Given the description of an element on the screen output the (x, y) to click on. 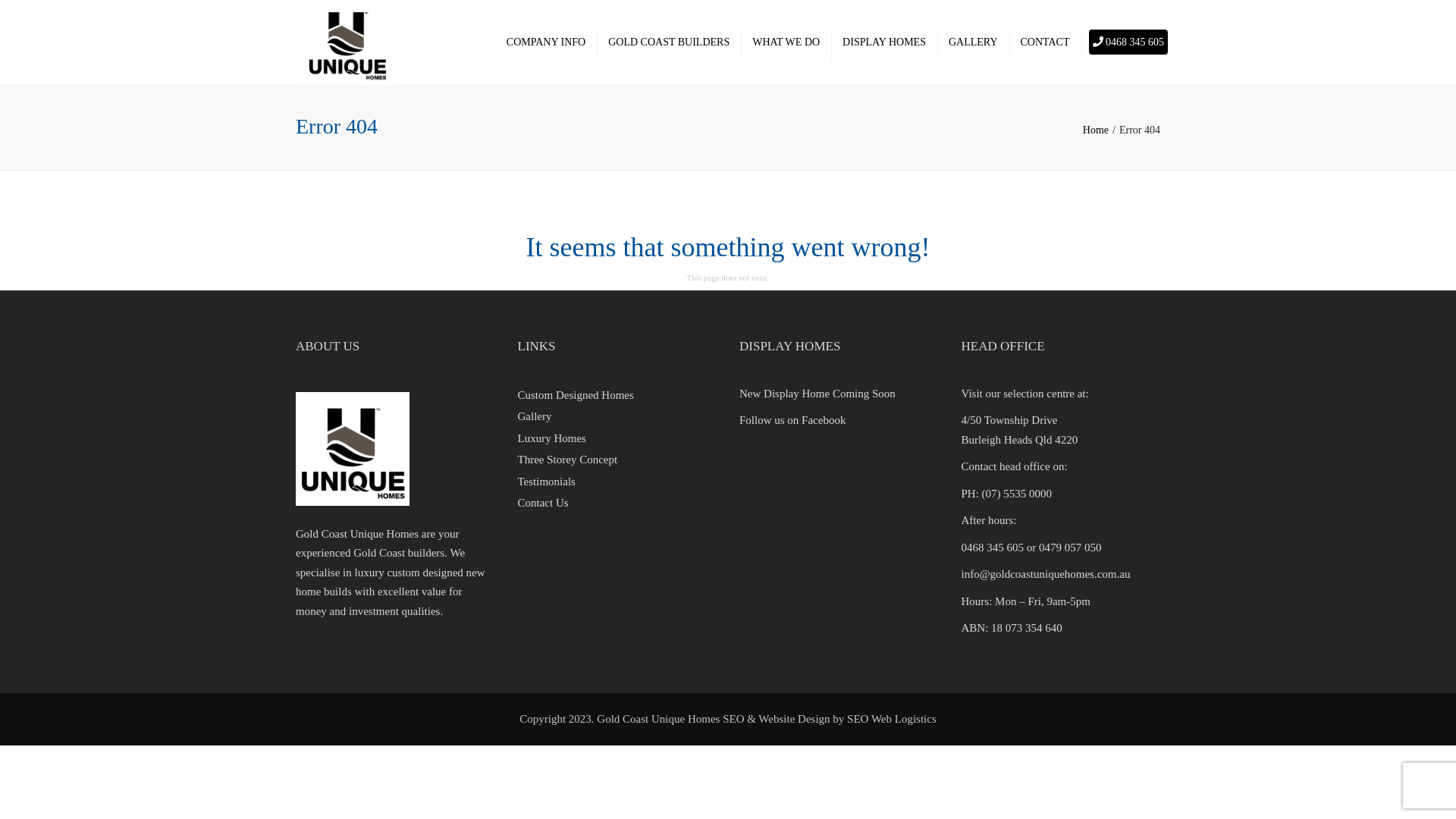
Home Element type: text (1100, 129)
CONTACT Element type: text (1044, 42)
GOLD COAST BUILDERS Element type: text (668, 42)
GALLERY Element type: text (972, 42)
Custom Designed Homes Element type: text (575, 395)
Gallery Element type: text (534, 416)
(07) 5535 0000 Element type: text (1017, 493)
0468 345 605 Element type: text (992, 547)
Contact Us Element type: text (542, 502)
COMPANY INFO Element type: text (545, 42)
DISPLAY HOMES Element type: text (883, 42)
0479 057 050 Element type: text (1069, 547)
Luxury Homes Element type: text (551, 438)
Testimonials Element type: text (545, 481)
WHAT WE DO Element type: text (785, 42)
Facebook Element type: text (823, 420)
Three Storey Concept Element type: text (567, 459)
0468 345 605 Element type: text (1128, 42)
